Given the description of an element on the screen output the (x, y) to click on. 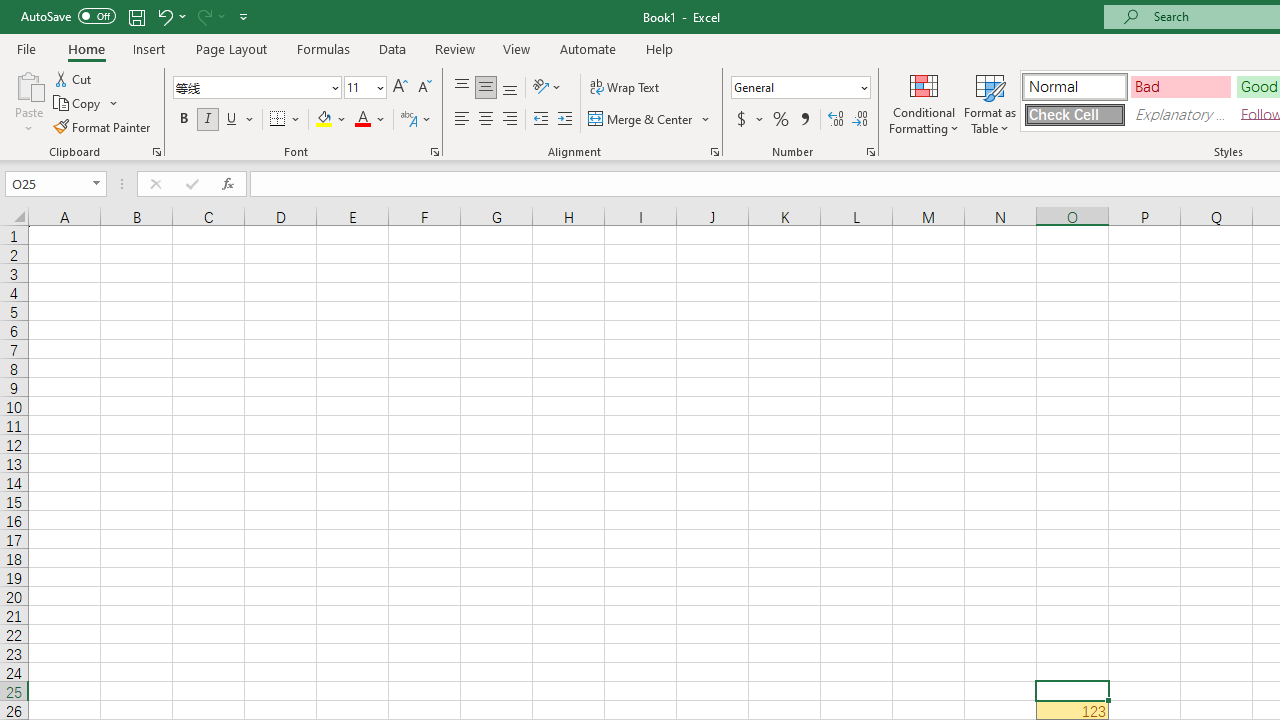
Font Color (370, 119)
Fill Color RGB(255, 255, 0) (324, 119)
Copy (85, 103)
Show Phonetic Field (416, 119)
Align Left (461, 119)
Bold (183, 119)
Check Cell (1074, 114)
